Given the description of an element on the screen output the (x, y) to click on. 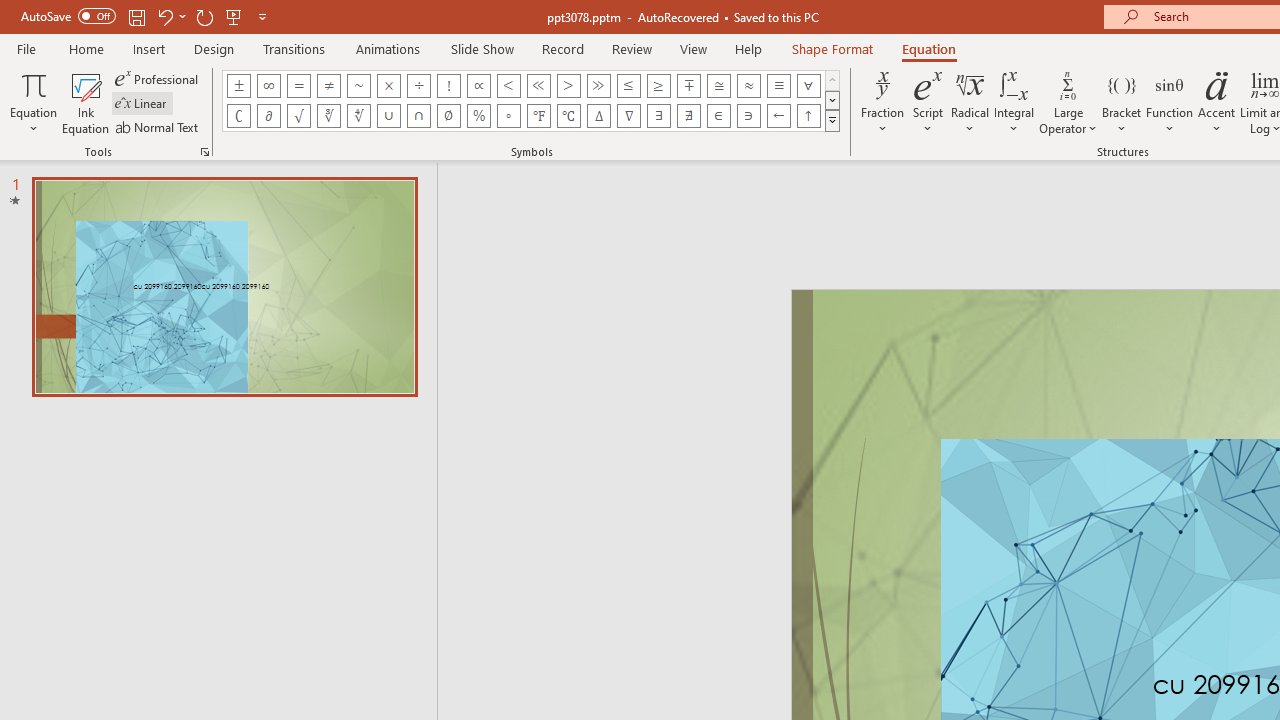
Professional (158, 78)
Equation Symbol Multiplication Sign (388, 85)
Equation Symbol Contains as Member (748, 115)
Equation Symbol Less Than or Equal To (628, 85)
Equation Symbol Not Equal To (328, 85)
Equation Symbol Radical Sign (298, 115)
AutomationID: EquationSymbolsInsertGallery (532, 100)
Equation Symbol Much Greater Than (598, 85)
Equation Symbol There Exists (658, 115)
